Given the description of an element on the screen output the (x, y) to click on. 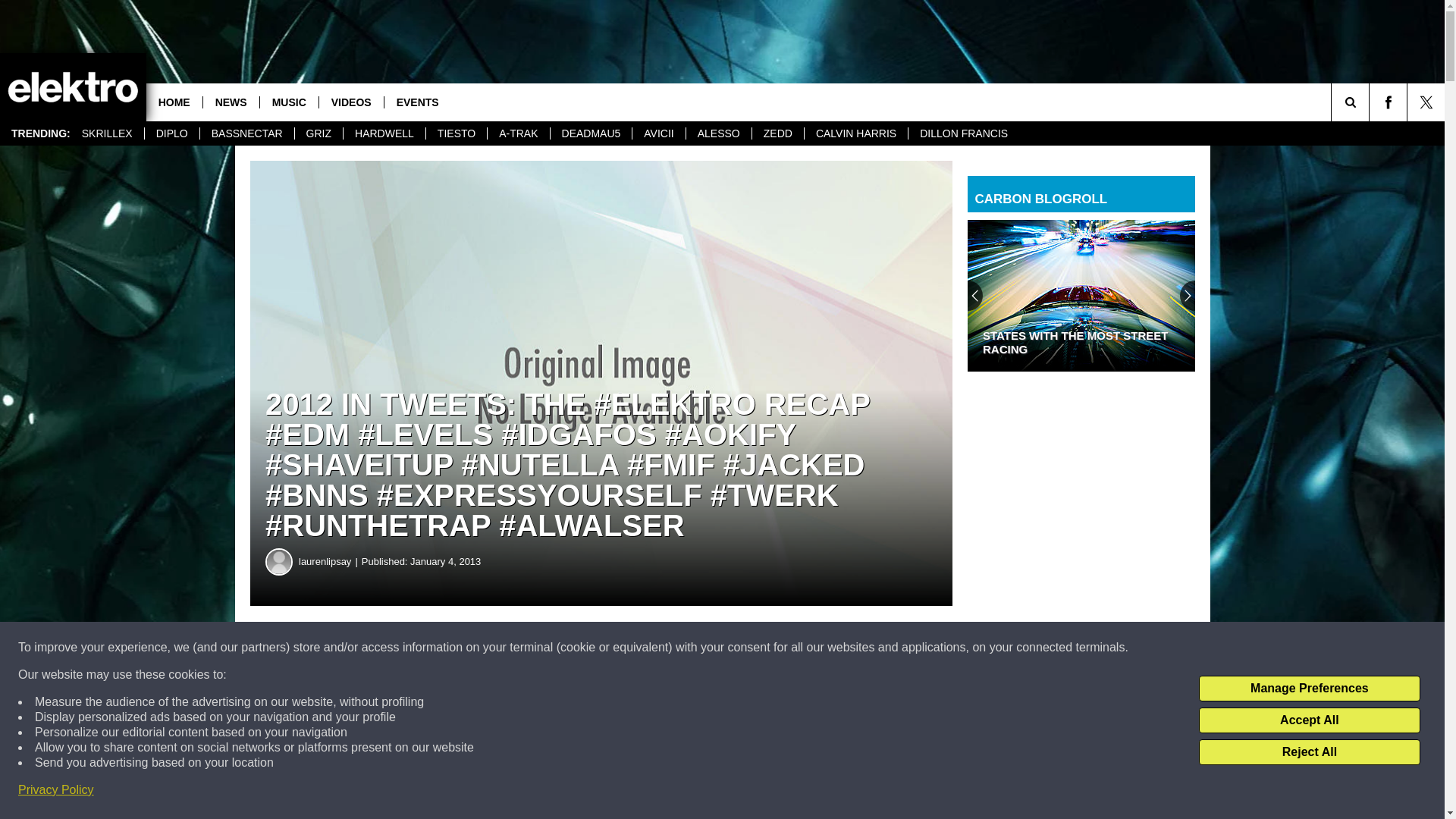
laurenlipsay (329, 561)
SEARCH (1371, 102)
SEARCH (1371, 102)
SHARE ON FACEBOOK (460, 647)
HARDWELL (383, 133)
DEADMAU5 (590, 133)
SKRILLEX (106, 133)
GRIZ (318, 133)
NEWS (230, 102)
CALVIN HARRIS (855, 133)
laurenlipsay (278, 561)
DIPLO (171, 133)
VIDEOS (351, 102)
Manage Preferences (1309, 688)
Reject All (1309, 751)
